Given the description of an element on the screen output the (x, y) to click on. 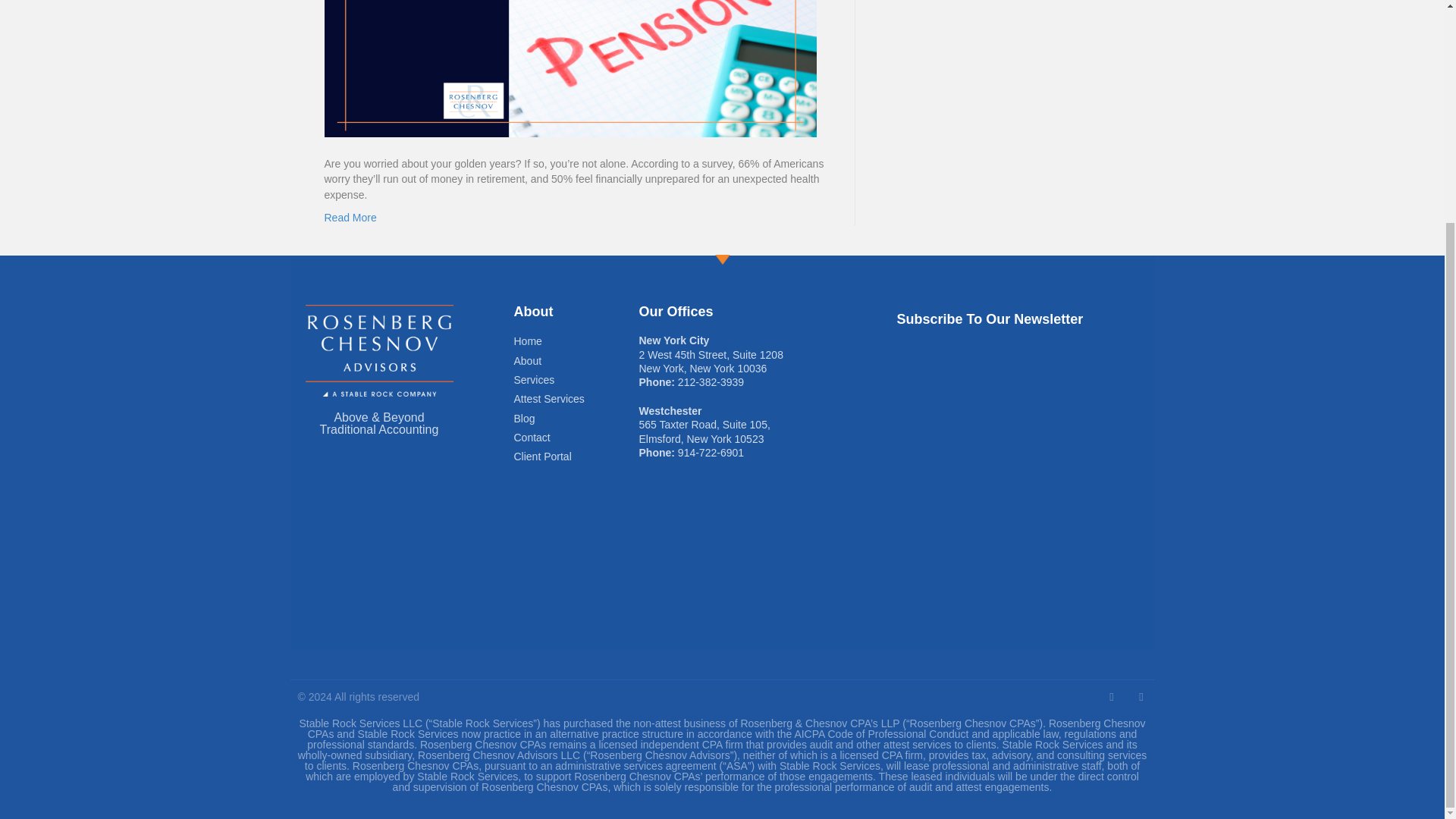
Attest Services (576, 398)
Read More (350, 217)
Home (576, 340)
Services (576, 379)
About (576, 360)
Client Portal (576, 456)
Contact (576, 437)
Blog (576, 418)
Pension Income Planning: Your 2022 Guide (570, 7)
